Given the description of an element on the screen output the (x, y) to click on. 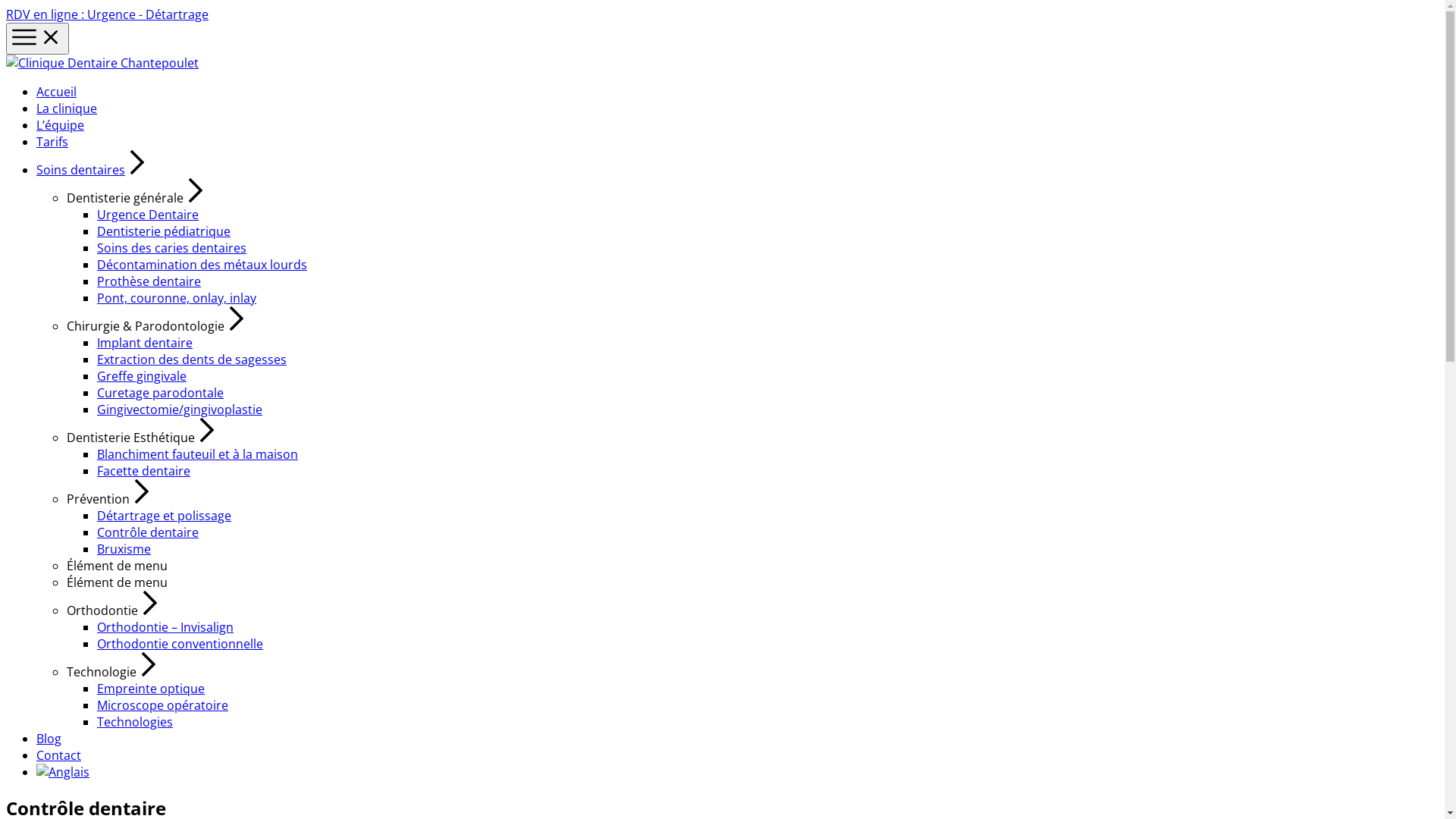
La clinique Element type: text (66, 108)
Gingivectomie/gingivoplastie Element type: text (179, 409)
Bruxisme Element type: text (123, 548)
Chirurgie & Parodontologie Element type: text (157, 325)
Soins des caries dentaires Element type: text (171, 247)
Greffe gingivale Element type: text (141, 375)
Curetage parodontale Element type: text (160, 392)
Accueil Element type: text (56, 91)
Extraction des dents de sagesses Element type: text (191, 359)
Soins dentaires Element type: text (92, 169)
Orthodontie conventionnelle Element type: text (180, 643)
Technologie Element type: text (113, 671)
Technologies Element type: text (134, 721)
Urgence Dentaire Element type: text (147, 214)
Pont, couronne, onlay, inlay Element type: text (176, 297)
Contact Element type: text (58, 754)
Empreinte optique Element type: text (150, 688)
Blog Element type: text (48, 738)
Implant dentaire Element type: text (144, 342)
Facette dentaire Element type: text (143, 470)
Tarifs Element type: text (52, 141)
Orthodontie Element type: text (114, 610)
